Given the description of an element on the screen output the (x, y) to click on. 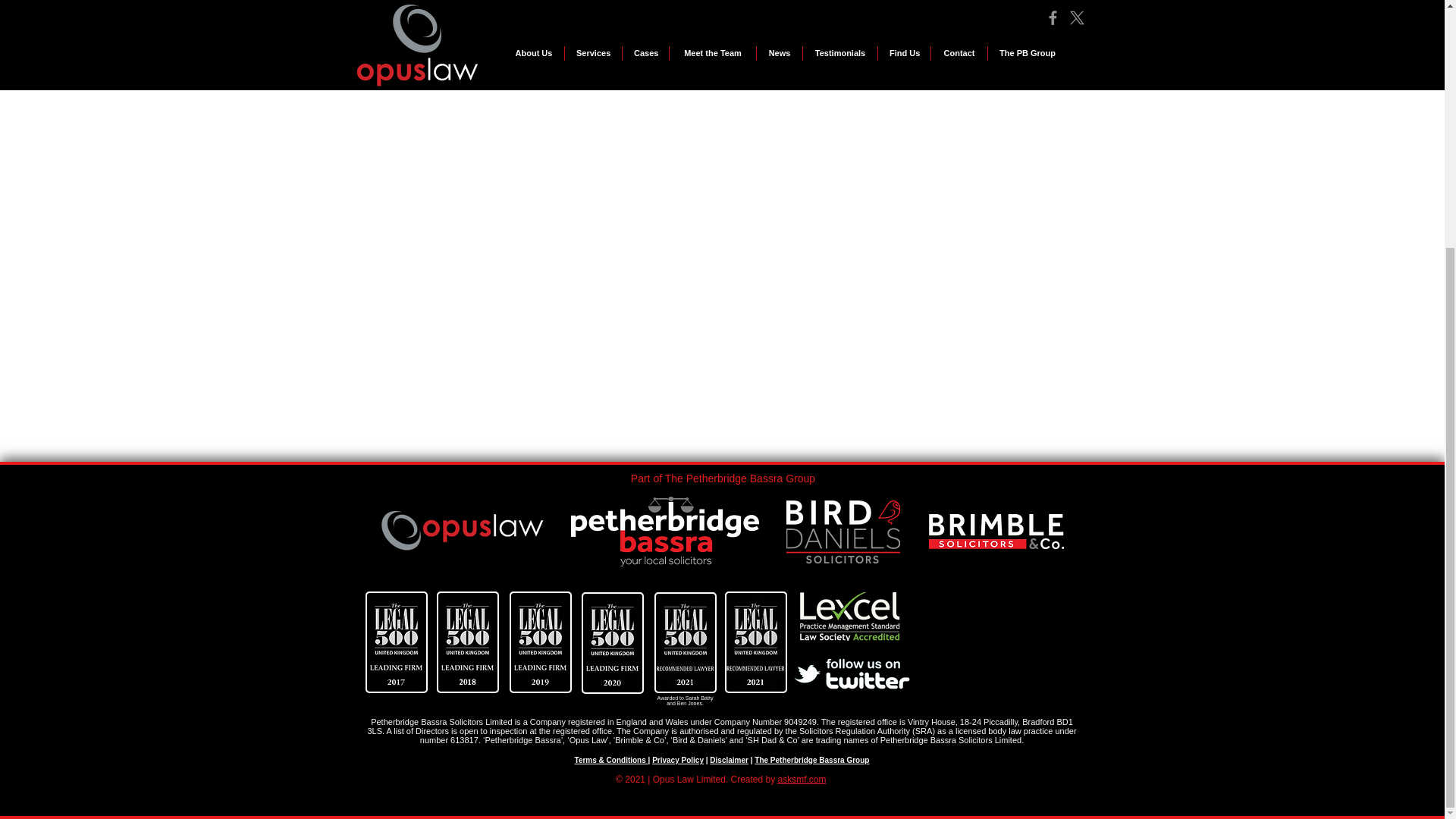
Privacy Policy (677, 759)
